Given the description of an element on the screen output the (x, y) to click on. 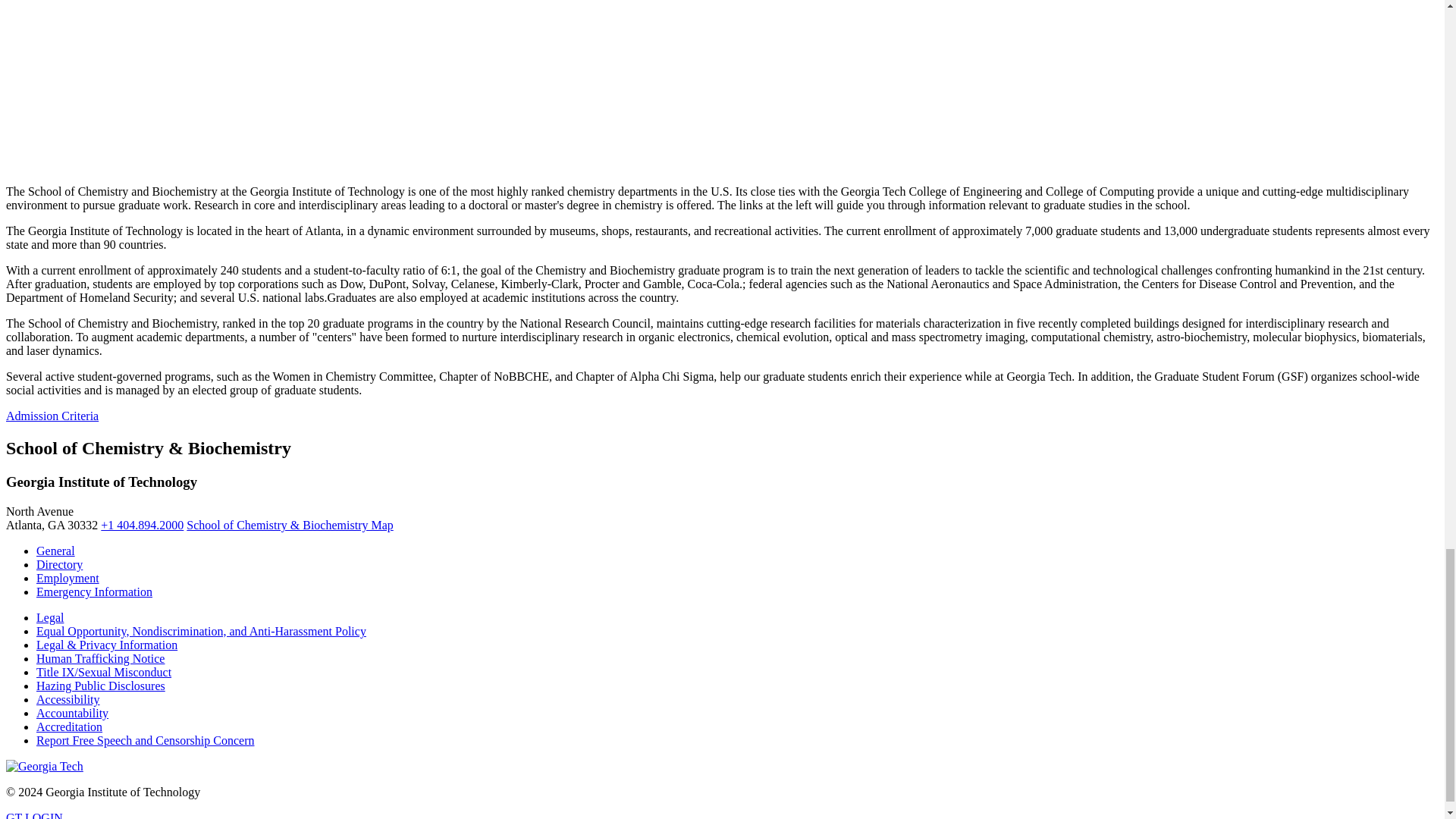
Georgia Institute of Technology Directory (59, 563)
Georgia Tech Hazing Conduct History (100, 685)
Georgia Institute of Technology Emergency Information (94, 591)
Georgia Institute of Technology Employment (67, 577)
Georgia Institute of Technology Accountability Resources (71, 712)
Legal Main Menu Category (50, 617)
Georgia Human Trafficking Resources (100, 658)
General Main Menu Category (55, 550)
Georgia Institute of Technology Accessibility Resources (68, 698)
